Given the description of an element on the screen output the (x, y) to click on. 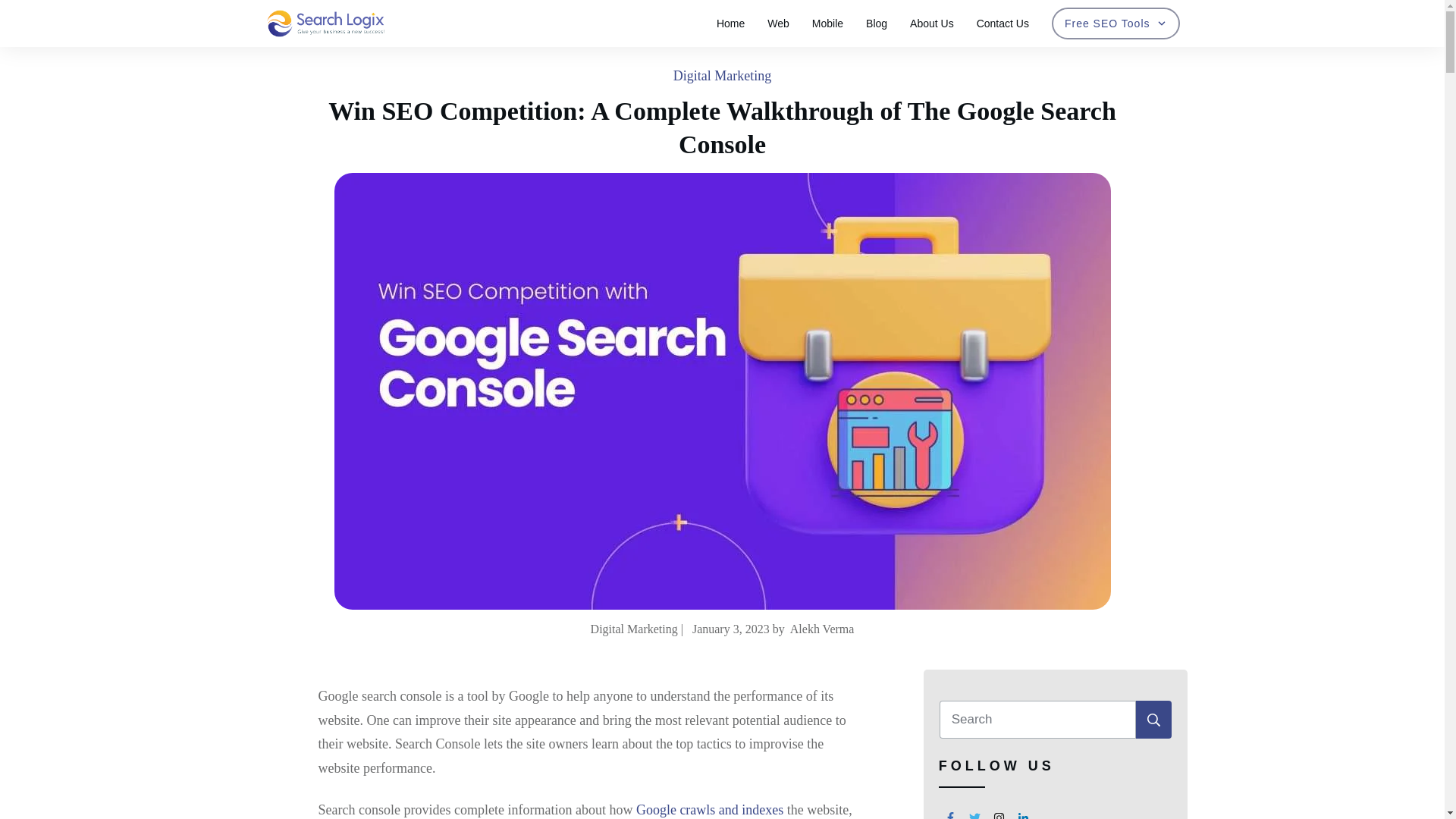
Google crawls and indexes (709, 809)
Blog (876, 23)
Digital Marketing (721, 75)
Digital Marketing (721, 75)
Web (778, 23)
Home (730, 23)
About Us (931, 23)
Free SEO Tools (1115, 23)
Contact Us (1002, 23)
Mobile (827, 23)
